Given the description of an element on the screen output the (x, y) to click on. 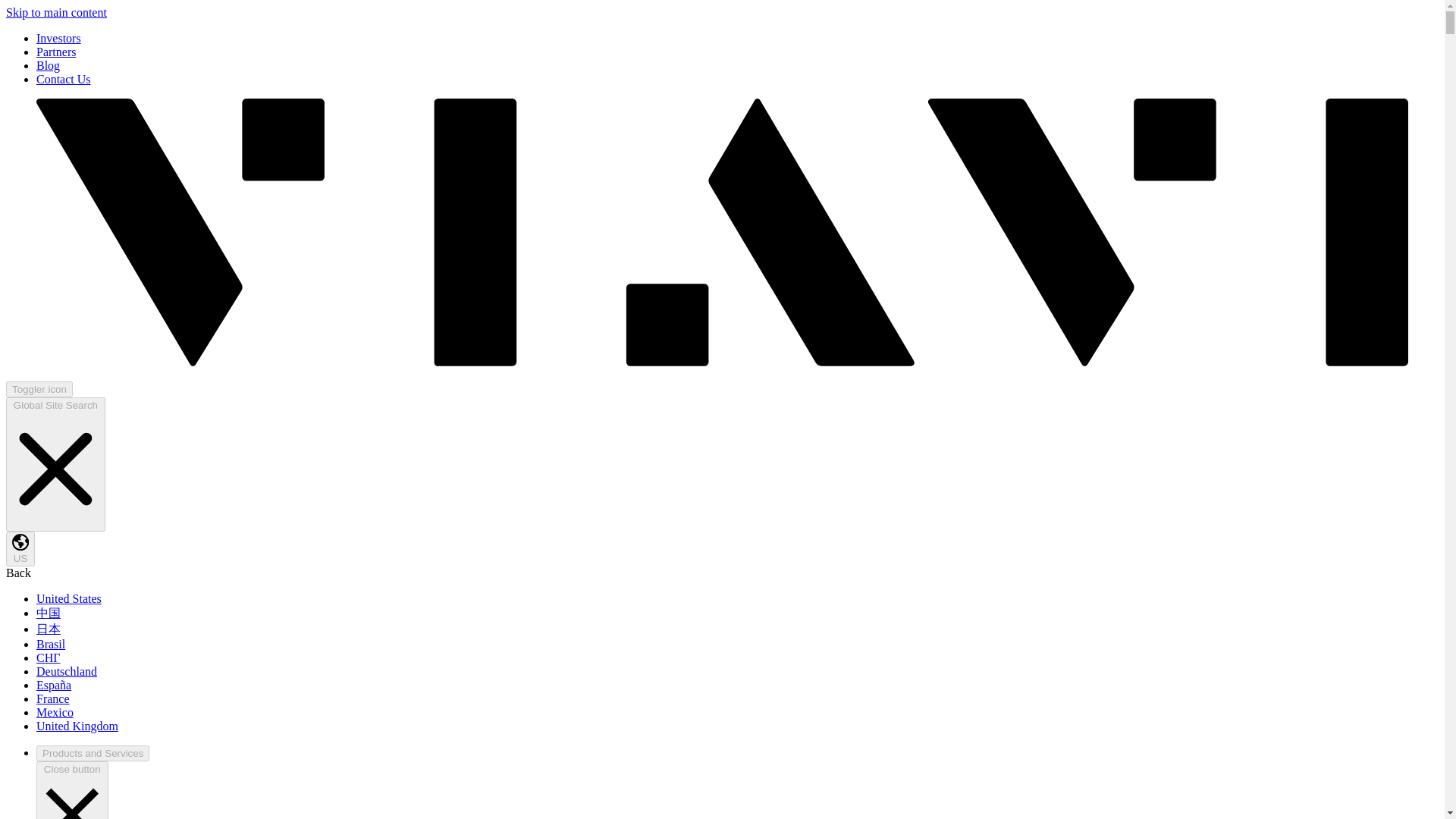
Partners (55, 51)
Products and Services (92, 753)
Investors (58, 38)
Contact Us (63, 78)
Mexico (55, 712)
Deutschland (66, 671)
Close button (71, 790)
Brasil (50, 644)
United States (68, 598)
United Kingdom (76, 725)
Toggler icon (38, 389)
Blog (47, 65)
Skip to main content (55, 11)
